Given the description of an element on the screen output the (x, y) to click on. 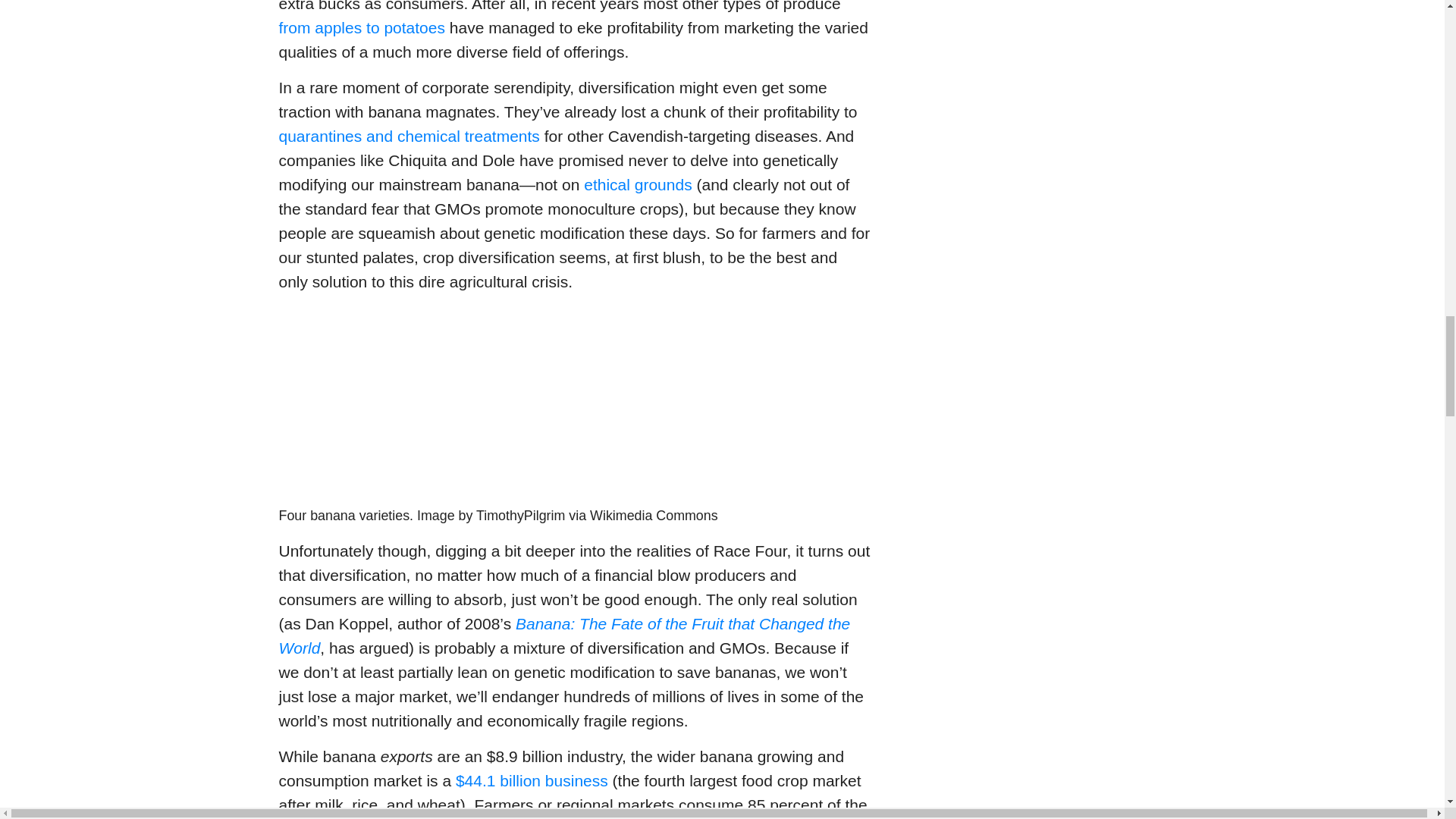
from apples to potatoes (362, 27)
Banana: The Fate of the Fruit that Changed the World (564, 635)
quarantines and chemical treatments (409, 135)
ethical grounds (637, 184)
